Given the description of an element on the screen output the (x, y) to click on. 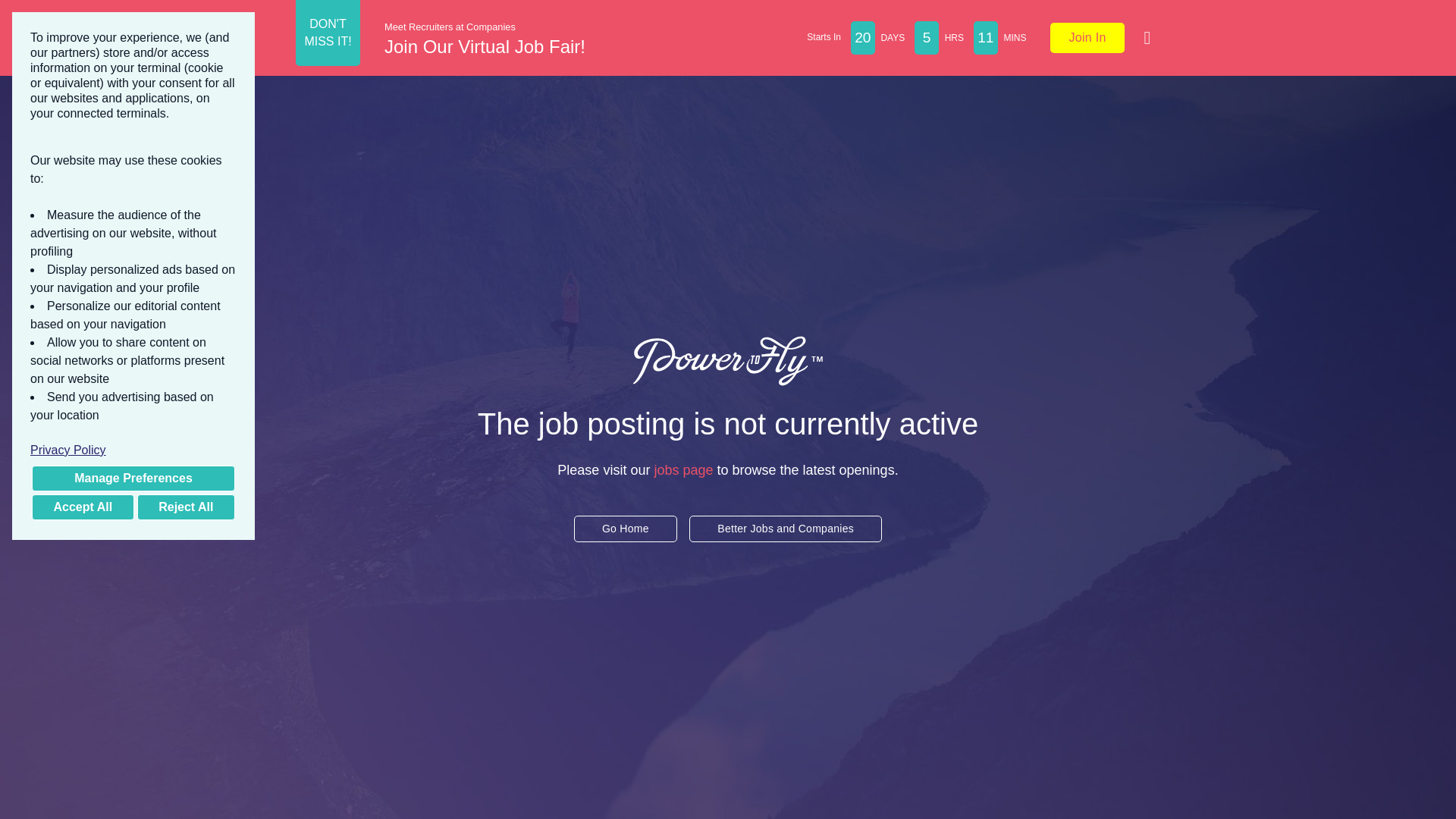
jobs page (683, 451)
Accept All (82, 507)
Reject All (185, 507)
PowerToFly (727, 360)
Privacy Policy (132, 450)
Manage Preferences (133, 478)
Go Home (625, 513)
Better Jobs and Companies (785, 519)
